Given the description of an element on the screen output the (x, y) to click on. 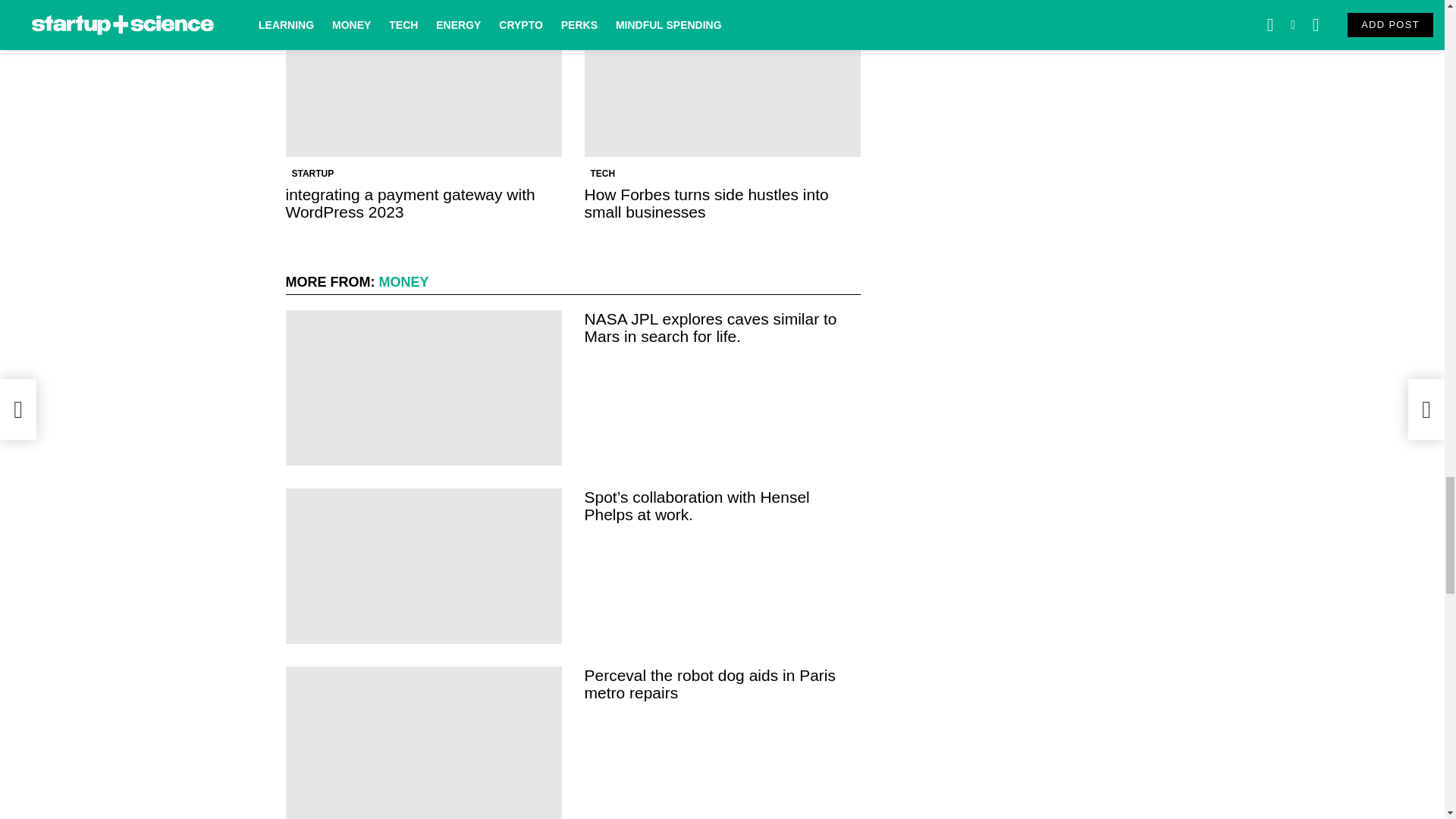
Perceval the robot dog aids in Paris metro repairs (422, 742)
integrating a payment gateway with WordPress 2023 (422, 79)
How Forbes turns side hustles into small businesses (721, 79)
NASA JPL explores caves similar to Mars in search for life. (422, 388)
